Given the description of an element on the screen output the (x, y) to click on. 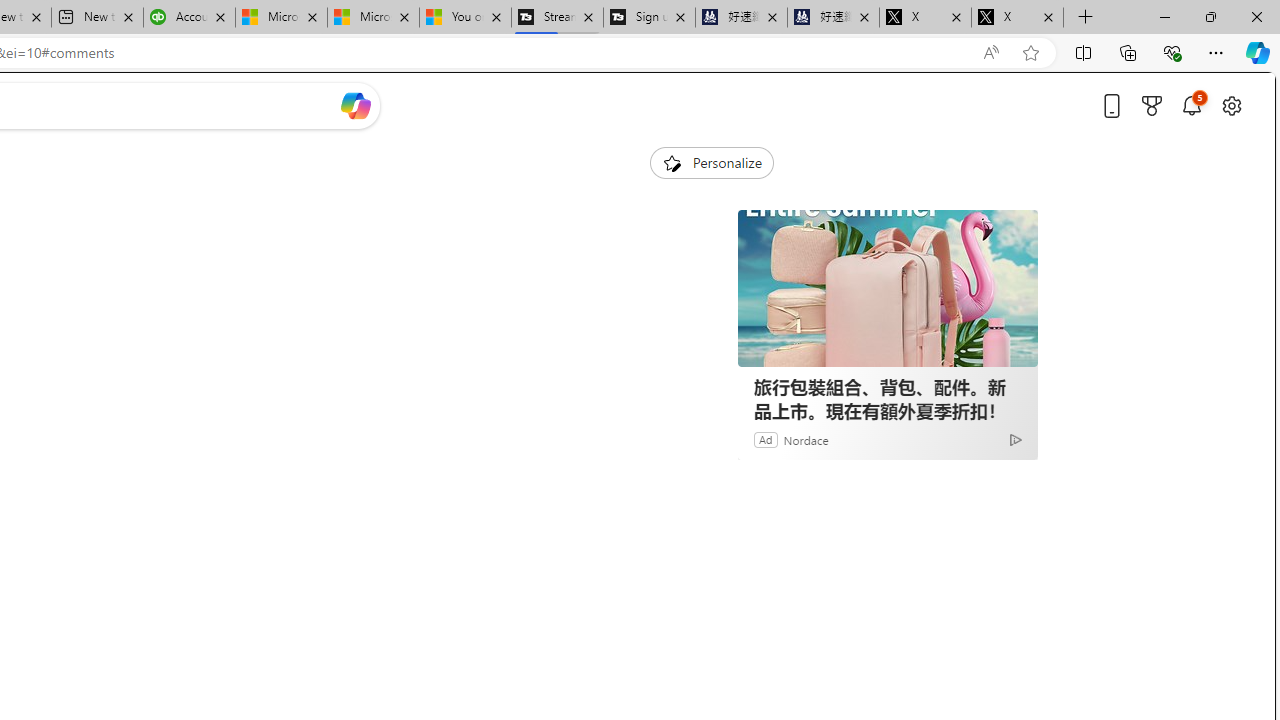
X (1017, 17)
Personalize (711, 162)
